Given the description of an element on the screen output the (x, y) to click on. 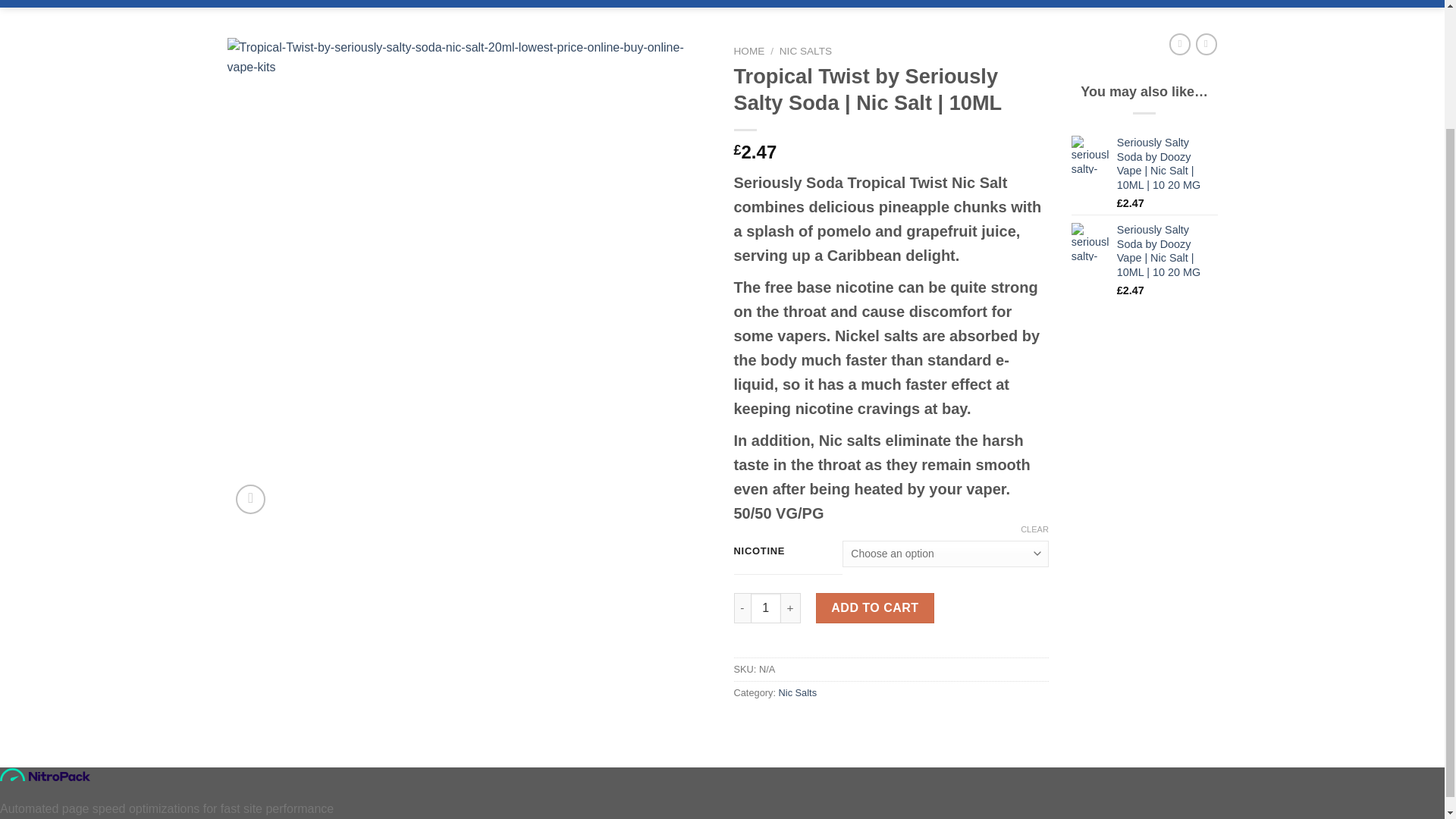
HOME (749, 50)
IQOS (642, 1)
DISPOSABLE VAPE (770, 1)
E-LIQUID (251, 1)
NICOTINE POUCHES (558, 1)
COILS (686, 1)
Zoom (249, 499)
ADD TO CART (874, 607)
CLEAR (1034, 529)
POD KITS (461, 1)
Qty (765, 607)
1 (765, 607)
VAPE KITS (392, 1)
Nic Salts (797, 692)
